Given the description of an element on the screen output the (x, y) to click on. 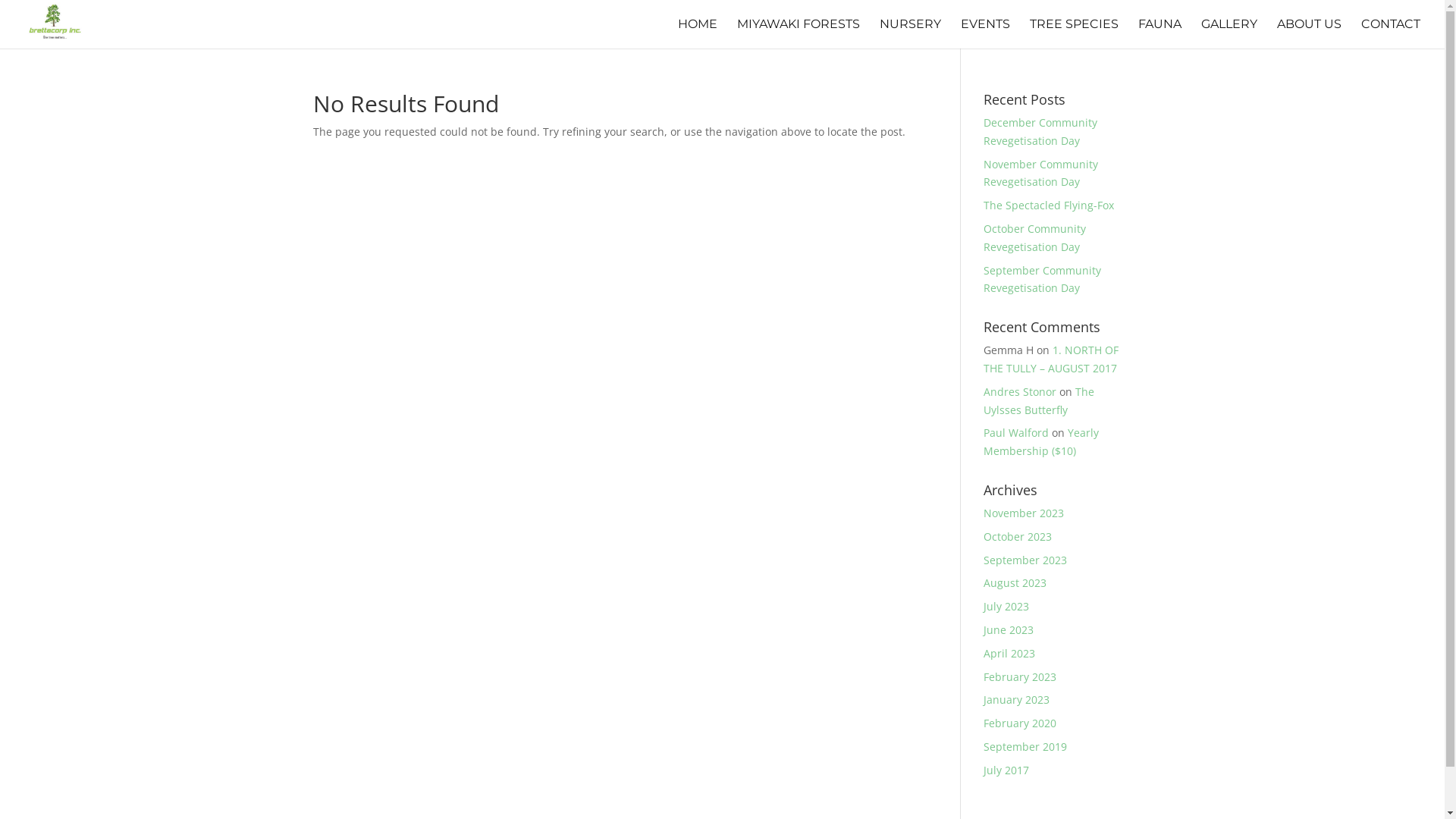
June 2023 Element type: text (1008, 629)
August 2023 Element type: text (1014, 582)
The Uylsses Butterfly Element type: text (1038, 400)
Andres Stonor Element type: text (1019, 391)
TREE SPECIES Element type: text (1073, 33)
The Spectacled Flying-Fox Element type: text (1048, 204)
FAUNA Element type: text (1159, 33)
CONTACT Element type: text (1390, 33)
July 2017 Element type: text (1006, 769)
February 2023 Element type: text (1019, 676)
July 2023 Element type: text (1006, 606)
MIYAWAKI FORESTS Element type: text (798, 33)
February 2020 Element type: text (1019, 722)
GALLERY Element type: text (1229, 33)
October 2023 Element type: text (1017, 536)
October Community Revegetisation Day Element type: text (1034, 237)
November Community Revegetisation Day Element type: text (1040, 172)
September 2023 Element type: text (1024, 559)
April 2023 Element type: text (1009, 653)
January 2023 Element type: text (1016, 699)
HOME Element type: text (697, 33)
November 2023 Element type: text (1023, 512)
Yearly Membership ($10) Element type: text (1040, 441)
September Community Revegetisation Day Element type: text (1042, 279)
Paul Walford Element type: text (1015, 432)
ABOUT US Element type: text (1309, 33)
NURSERY Element type: text (910, 33)
December Community Revegetisation Day Element type: text (1040, 131)
September 2019 Element type: text (1024, 746)
EVENTS Element type: text (985, 33)
